Given the description of an element on the screen output the (x, y) to click on. 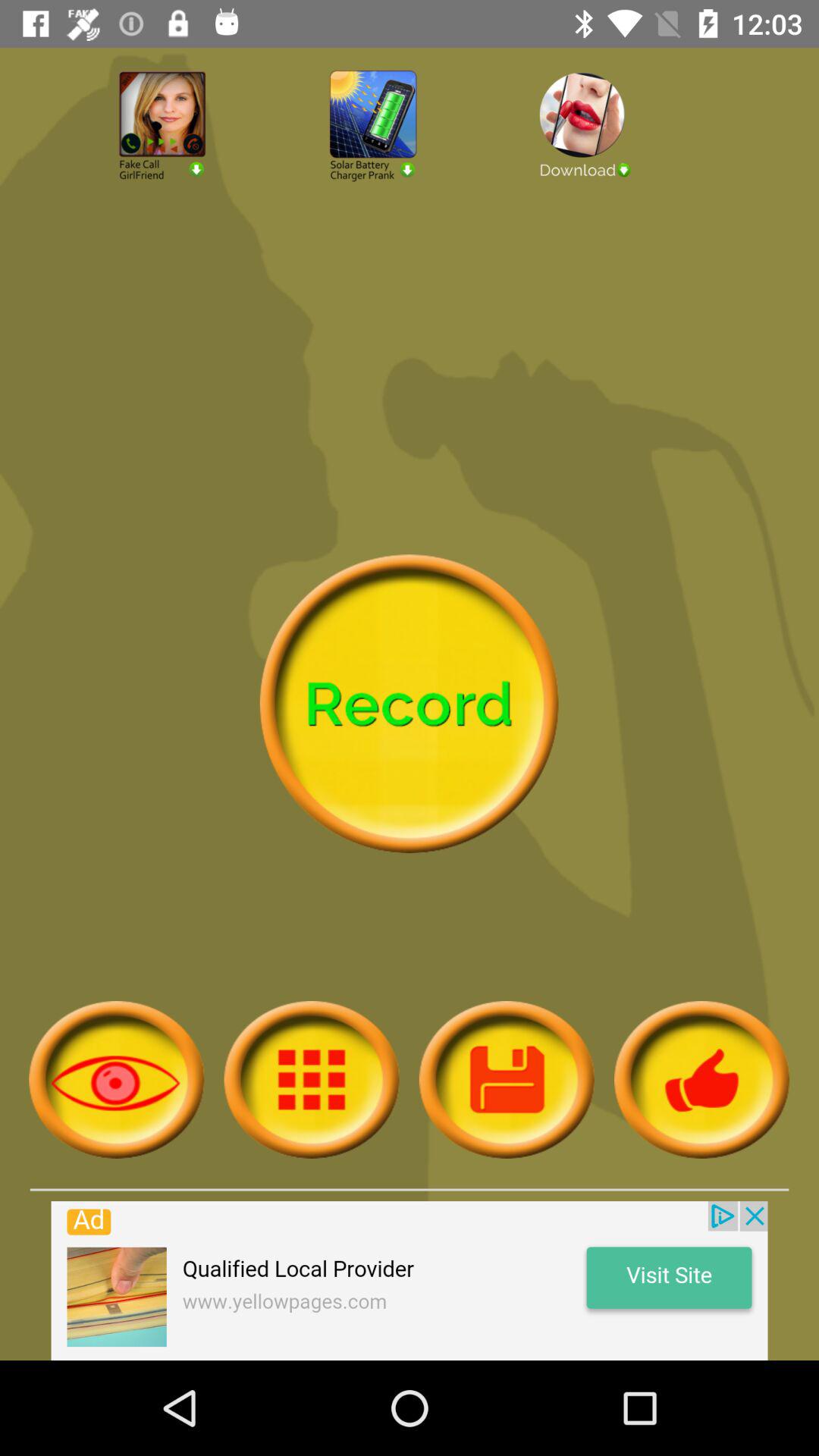
advertisement banner (409, 1280)
